Given the description of an element on the screen output the (x, y) to click on. 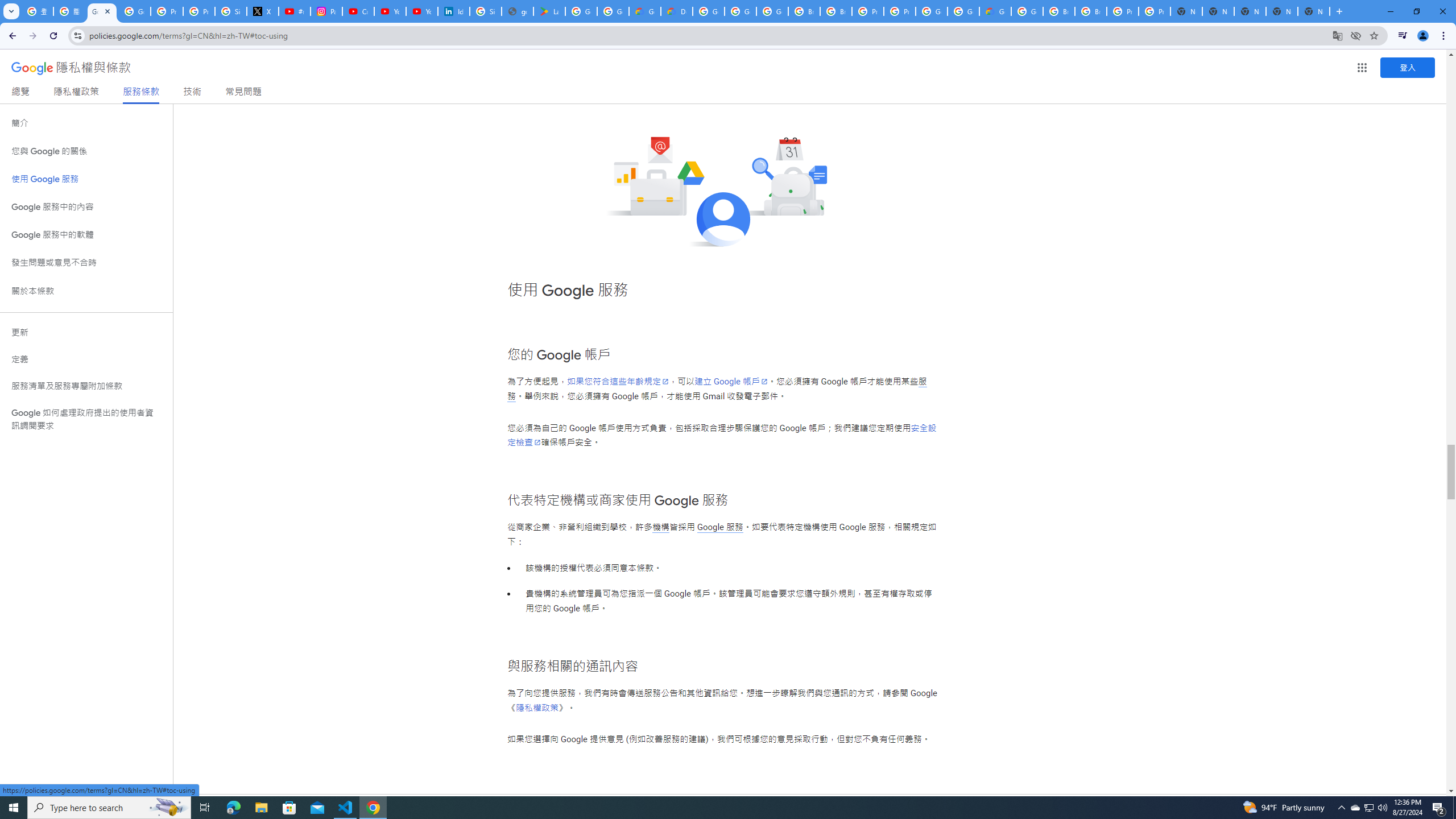
Translate this page (1336, 35)
Google Cloud Platform (708, 11)
